Given the description of an element on the screen output the (x, y) to click on. 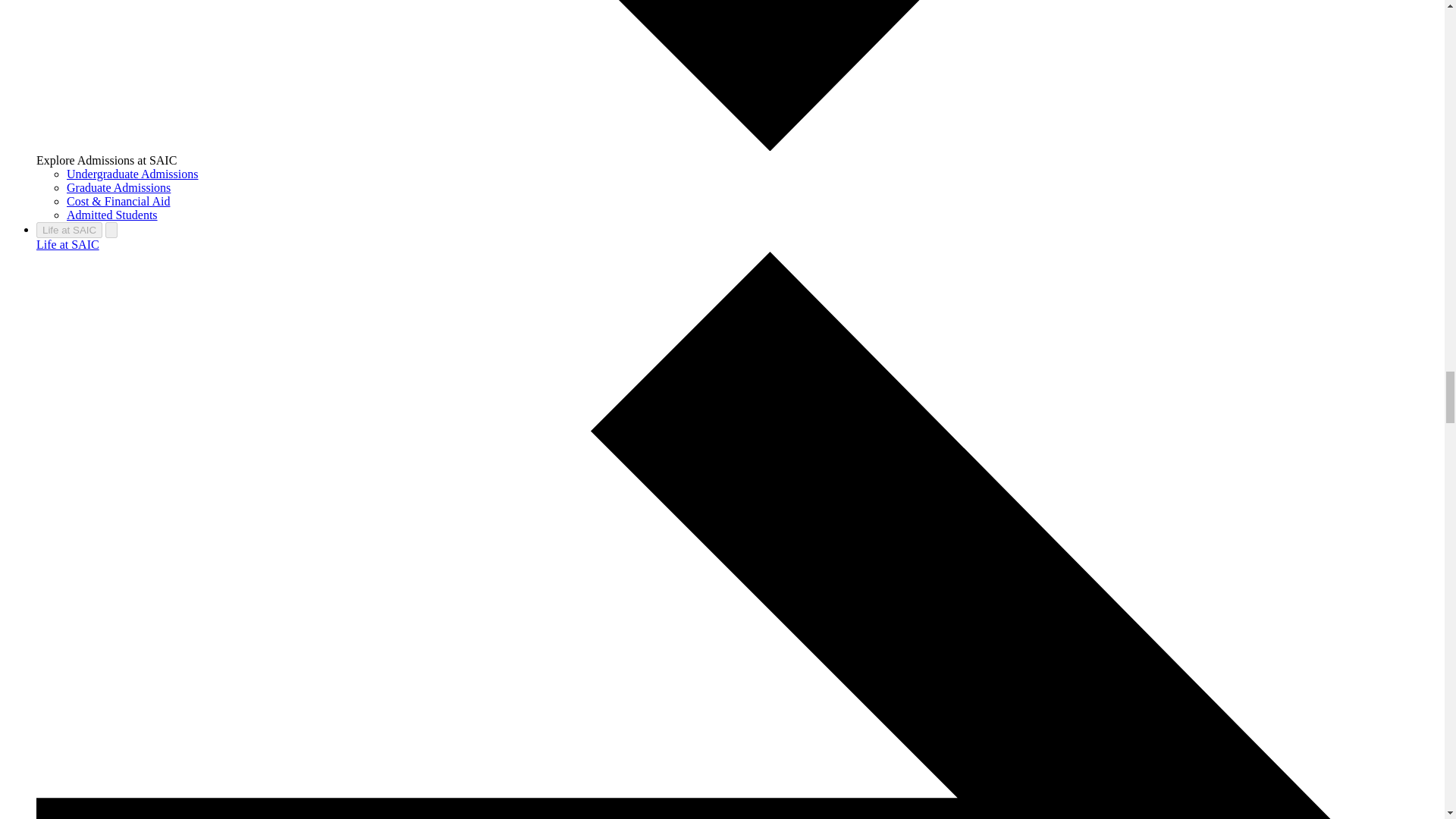
Graduate Admissions (118, 187)
Life at SAIC (68, 229)
Admitted Students (111, 214)
Undergraduate Admissions (132, 173)
Life at SAIC (67, 244)
